Given the description of an element on the screen output the (x, y) to click on. 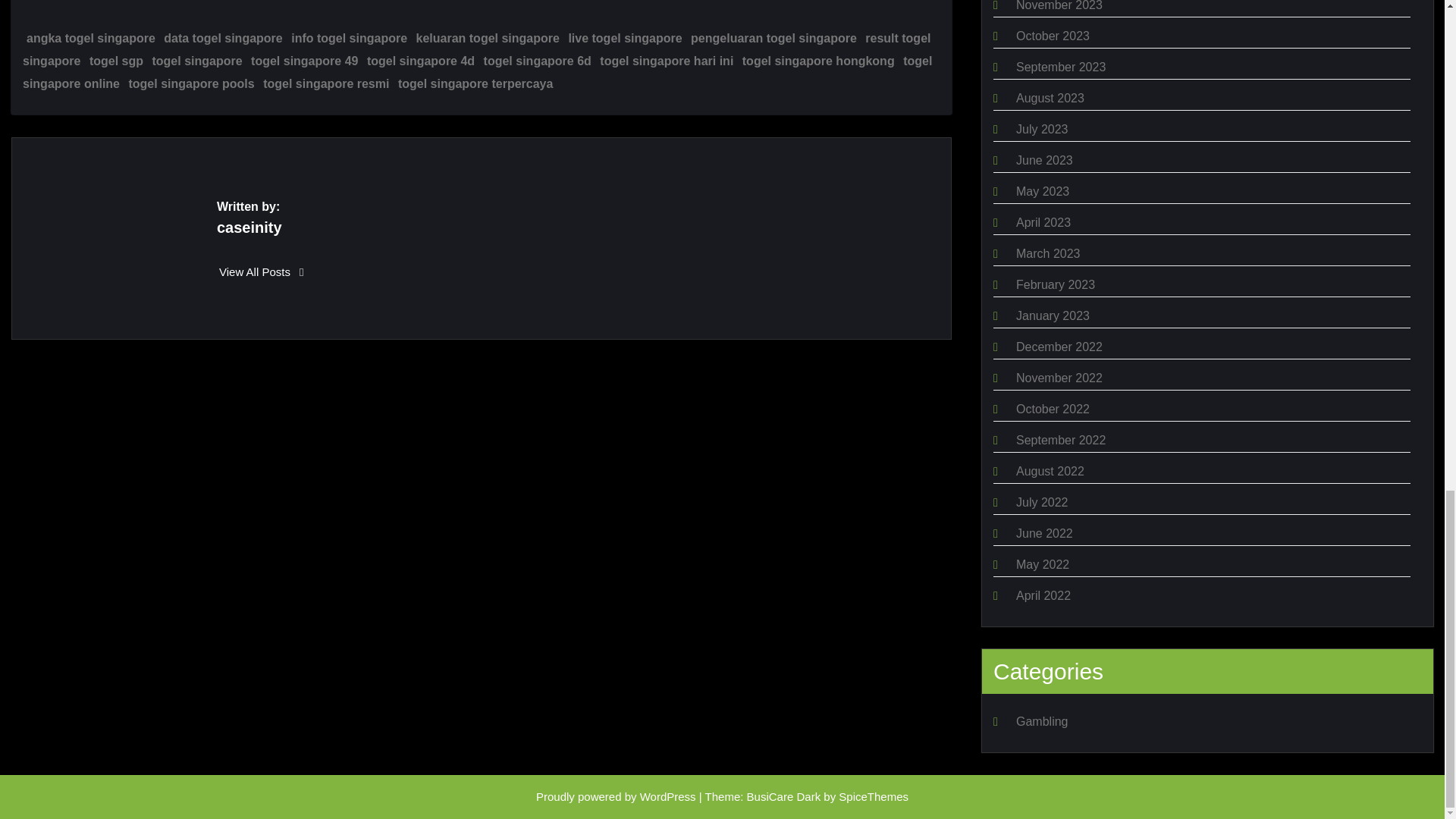
togel singapore hari ini (666, 60)
View All Posts (261, 271)
togel singapore online (477, 72)
pengeluaran togel singapore (773, 38)
togel singapore (196, 60)
angka togel singapore (90, 38)
togel singapore resmi (326, 83)
info togel singapore (349, 38)
keluaran togel singapore (487, 38)
togel singapore terpercaya (475, 83)
